Given the description of an element on the screen output the (x, y) to click on. 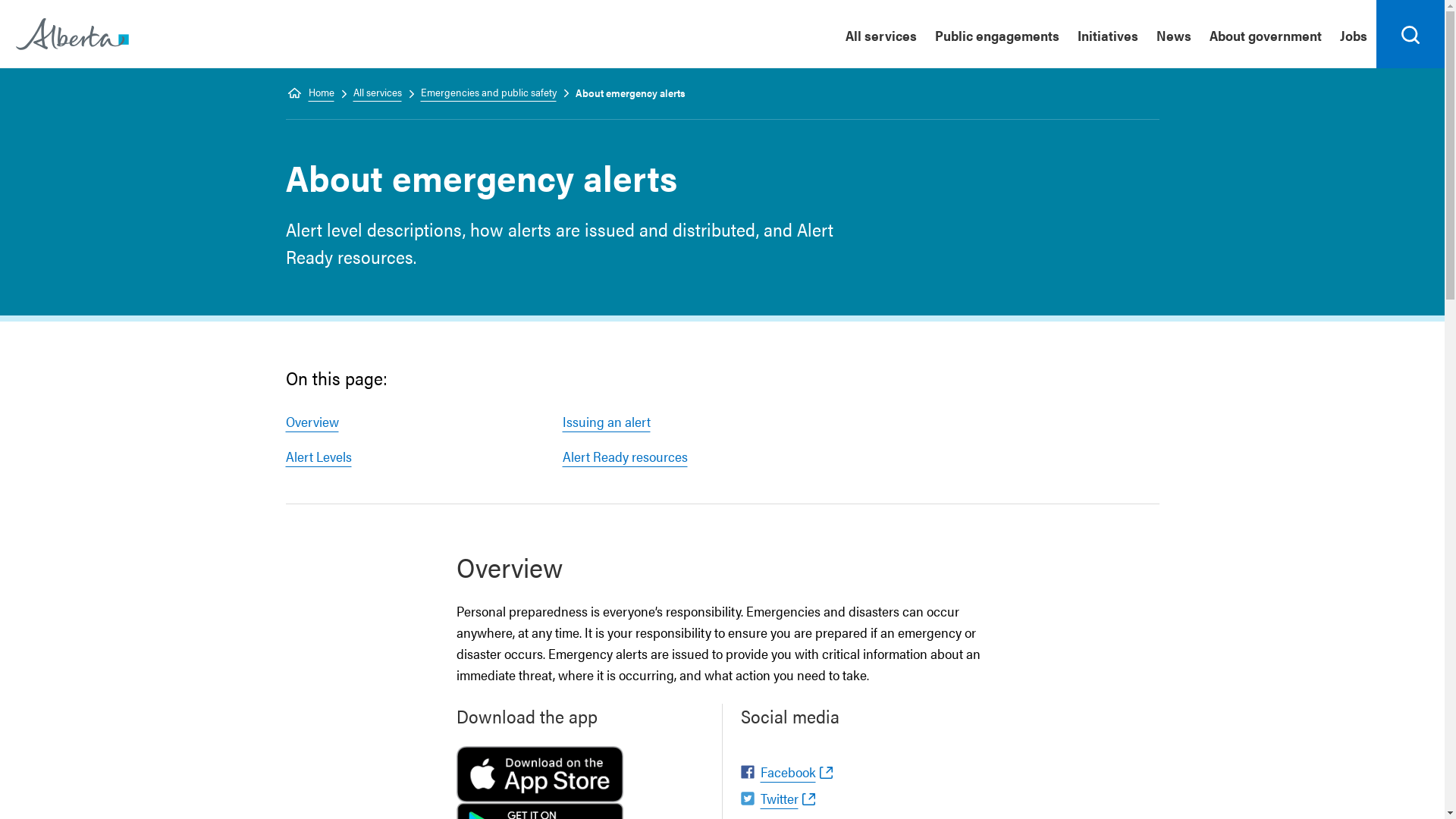
Jobs Element type: text (1353, 34)
News Element type: text (1173, 34)
Public engagements Element type: text (996, 34)
Issuing an alert Element type: text (606, 420)
About government Element type: text (1265, 34)
Twitter Element type: text (777, 798)
All services Element type: text (370, 92)
Emergencies and public safety Element type: text (480, 92)
Home Element type: hover (72, 33)
All services Element type: text (880, 34)
Facebook Element type: text (785, 771)
Home Element type: text (309, 92)
Initiatives Element type: text (1107, 34)
Alert Levels Element type: text (318, 455)
Search Element type: text (1410, 34)
Alert Ready resources Element type: text (624, 455)
Overview Element type: text (311, 420)
